Given the description of an element on the screen output the (x, y) to click on. 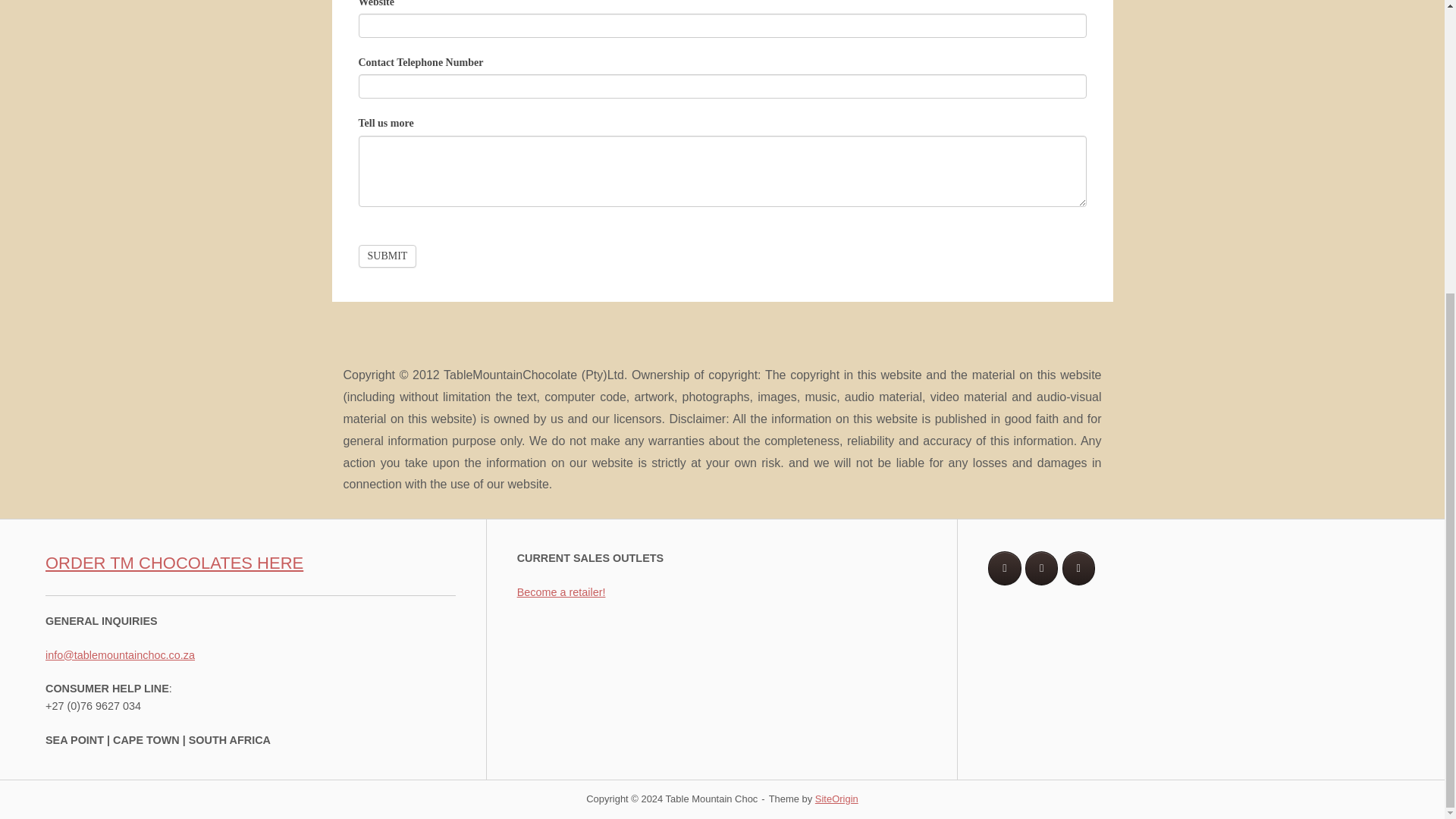
ORDER TM CHOCOLATES HERE (173, 562)
Become a retailer! (560, 592)
Table Mountain Choc on Instagram (1078, 568)
Submit (387, 255)
Table Mountain Choc on X Twitter (1041, 568)
Mail Info (120, 654)
SiteOrigin (837, 798)
Submit (387, 255)
Table Mountain Choc on Facebook (1004, 568)
